Given the description of an element on the screen output the (x, y) to click on. 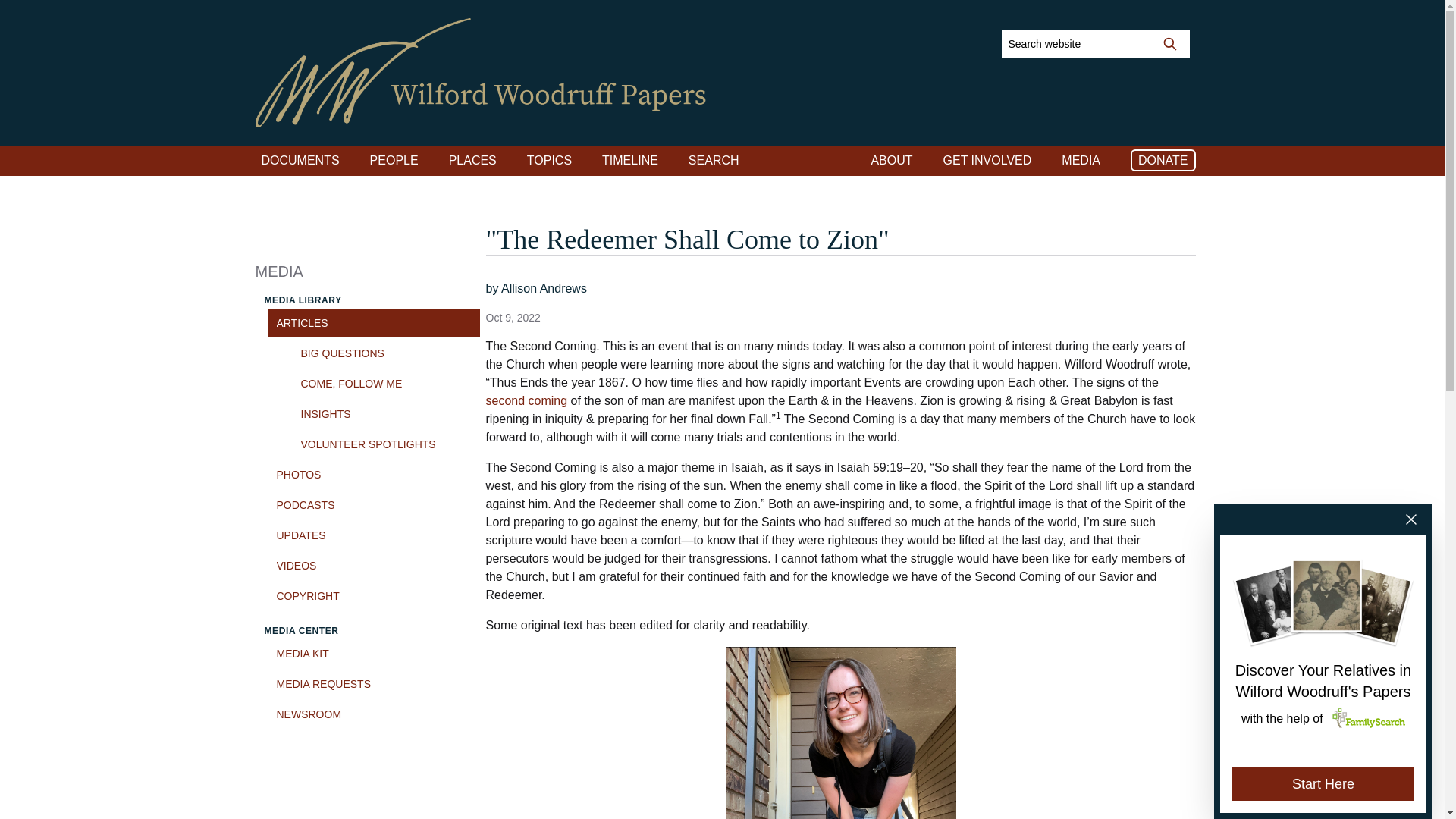
Search website (1169, 43)
PEOPLE (394, 160)
Start Here (1322, 783)
DOCUMENTS (299, 160)
PLACES (472, 160)
Wilford Woodruff Papers (480, 72)
